Given the description of an element on the screen output the (x, y) to click on. 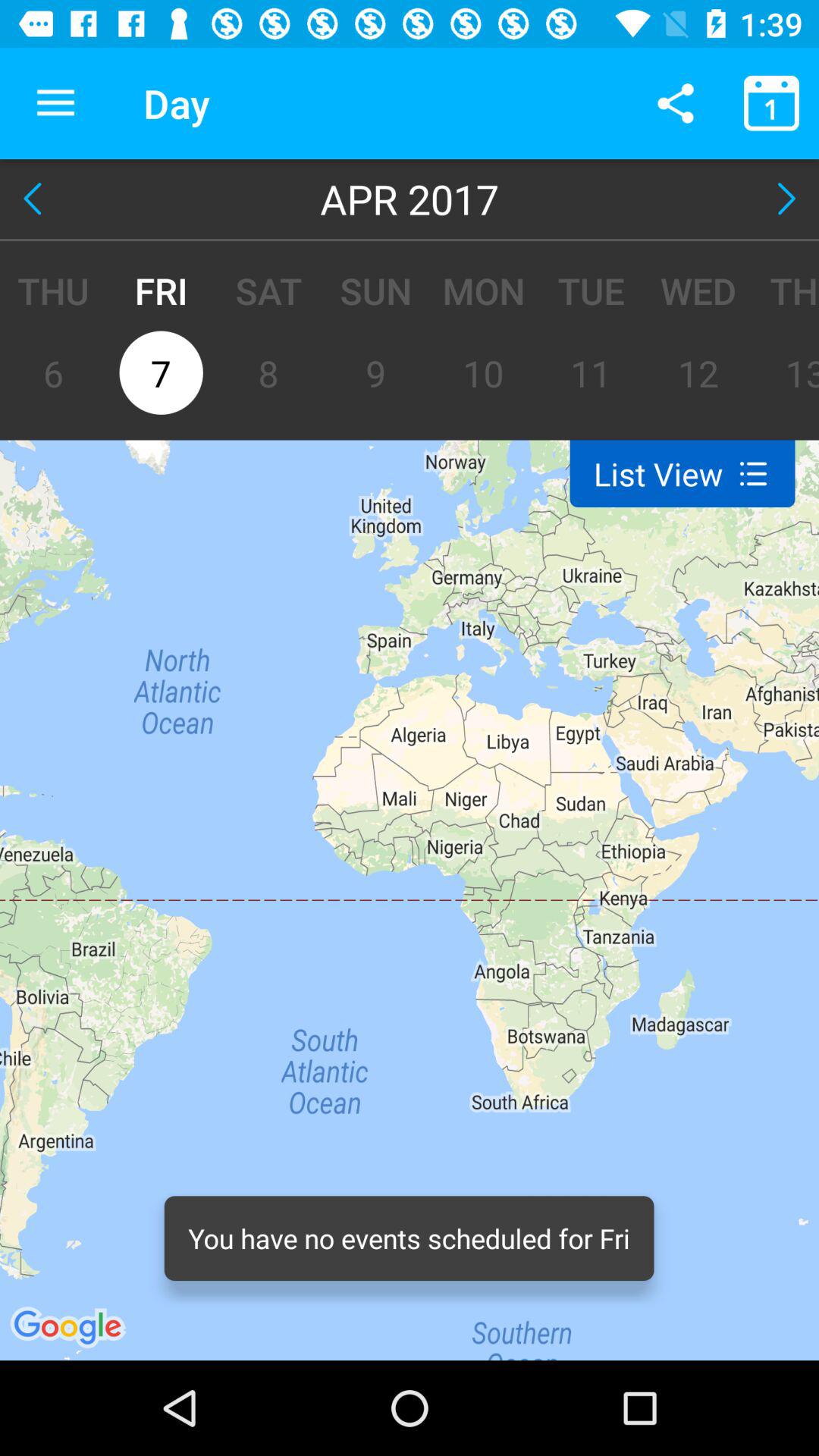
launch apr 2017 item (409, 198)
